Given the description of an element on the screen output the (x, y) to click on. 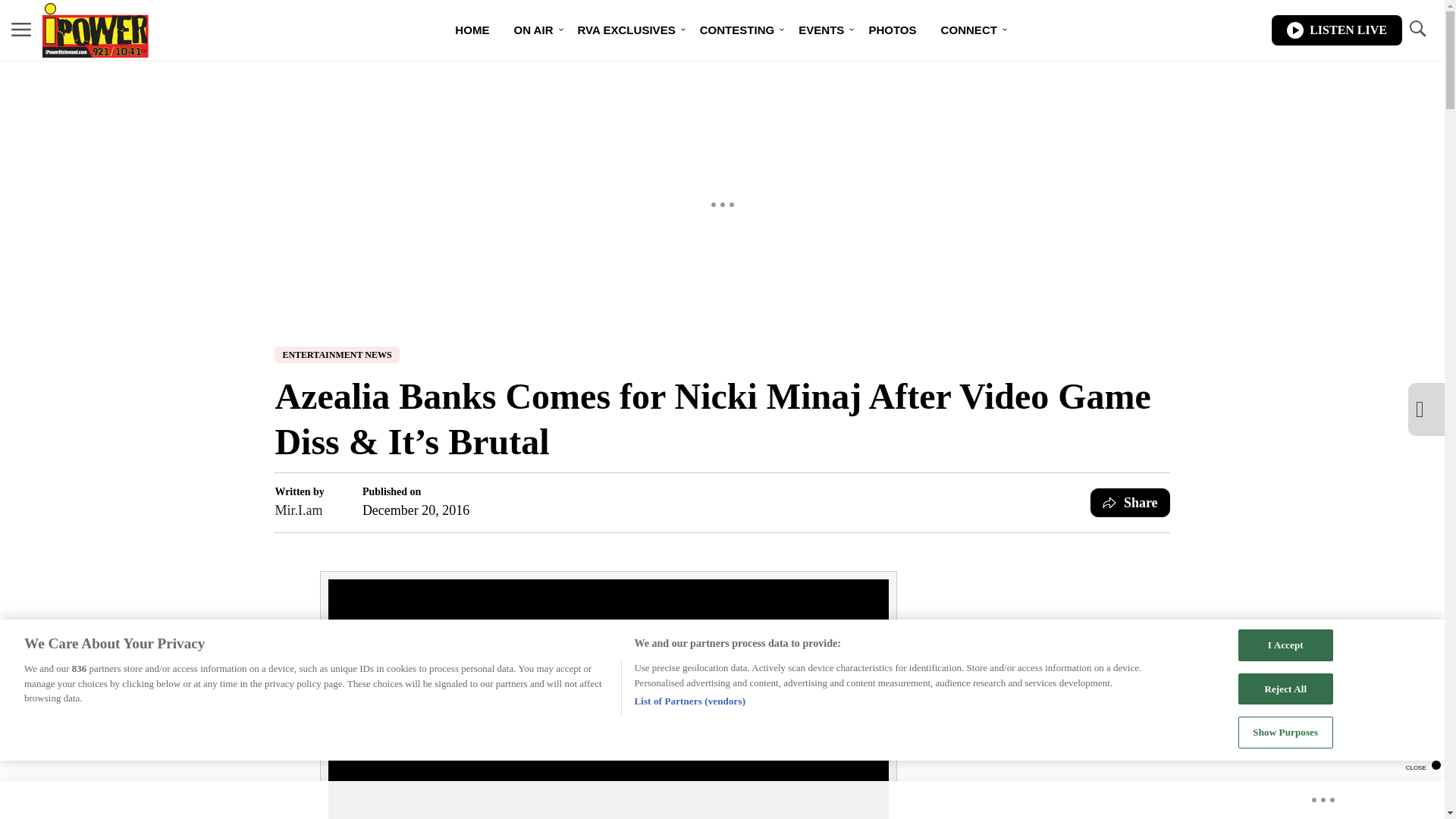
EVENTS (821, 30)
ON AIR (532, 30)
CONNECT (968, 30)
HOME (471, 30)
TOGGLE SEARCH (1417, 28)
MENU (20, 29)
TOGGLE SEARCH (1417, 30)
RVA EXCLUSIVES (626, 30)
LISTEN LIVE (1336, 30)
PHOTOS (892, 30)
CONTESTING (737, 30)
MENU (20, 30)
